Given the description of an element on the screen output the (x, y) to click on. 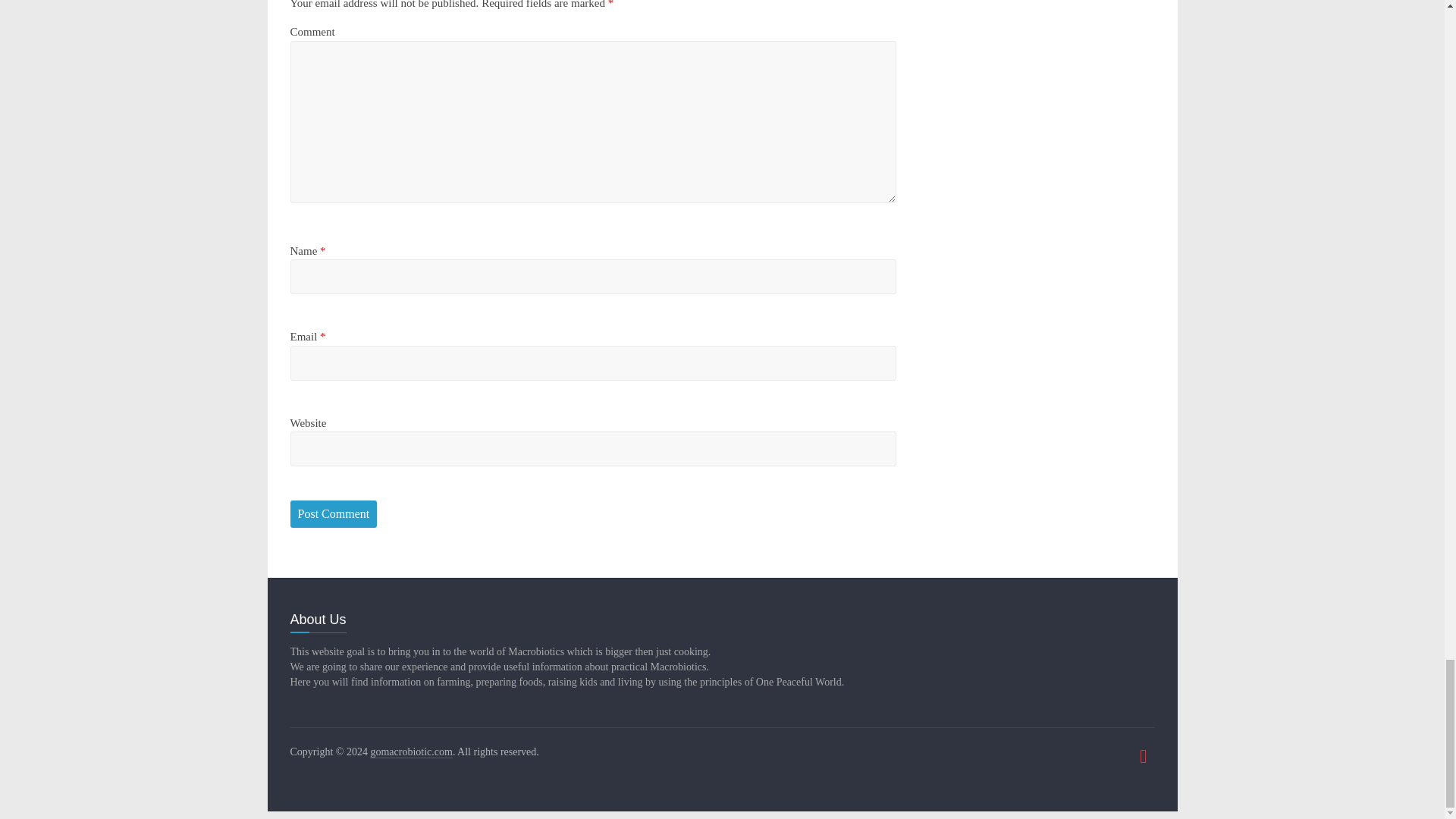
Post Comment (333, 513)
Post Comment (333, 513)
gomacrobiotic.com (410, 752)
